Given the description of an element on the screen output the (x, y) to click on. 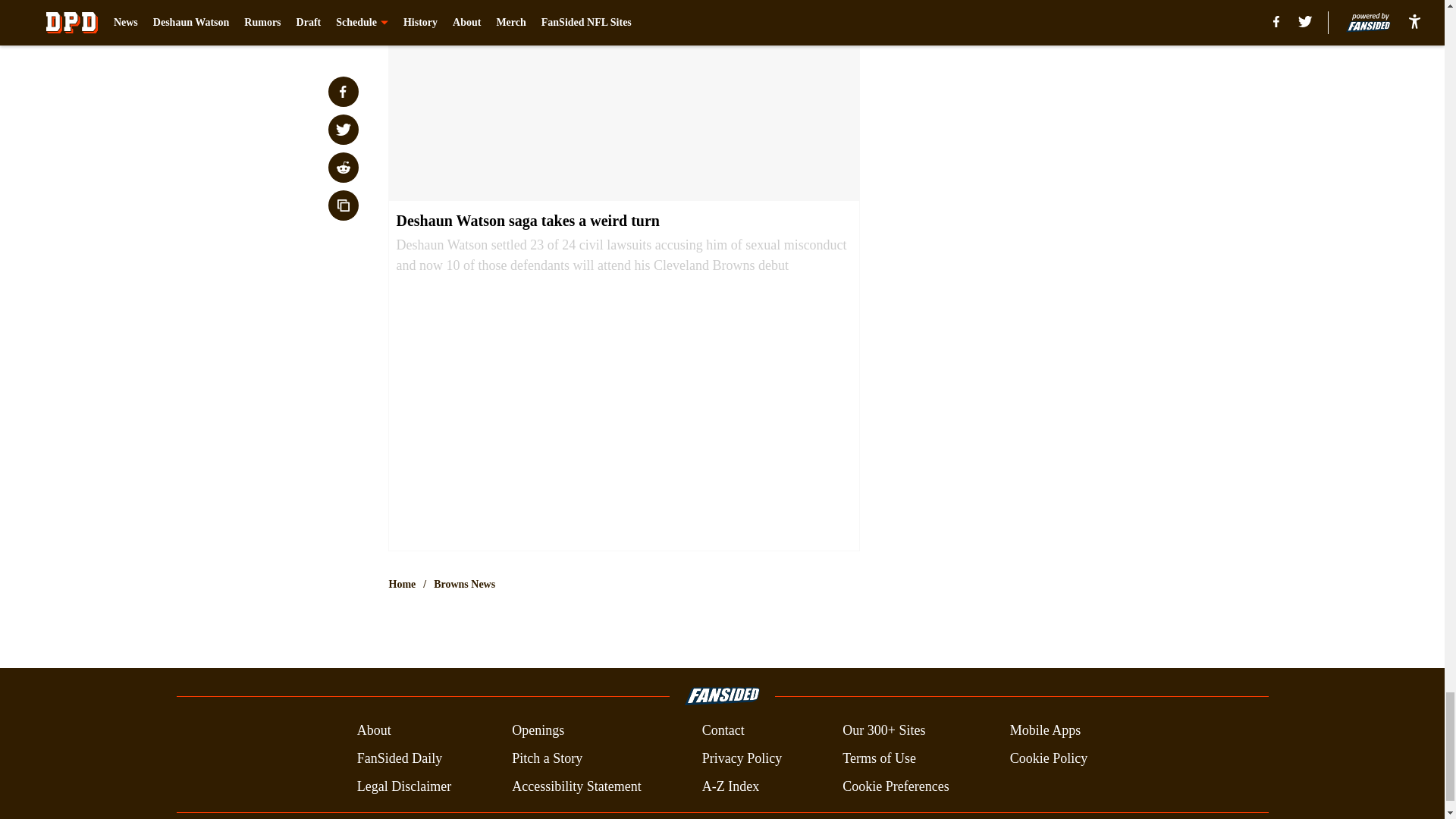
Pitch a Story (547, 758)
Browns News (464, 584)
About (373, 730)
Openings (538, 730)
Contact (722, 730)
FanSided Daily (399, 758)
Privacy Policy (742, 758)
Home (401, 584)
Mobile Apps (1045, 730)
